Given the description of an element on the screen output the (x, y) to click on. 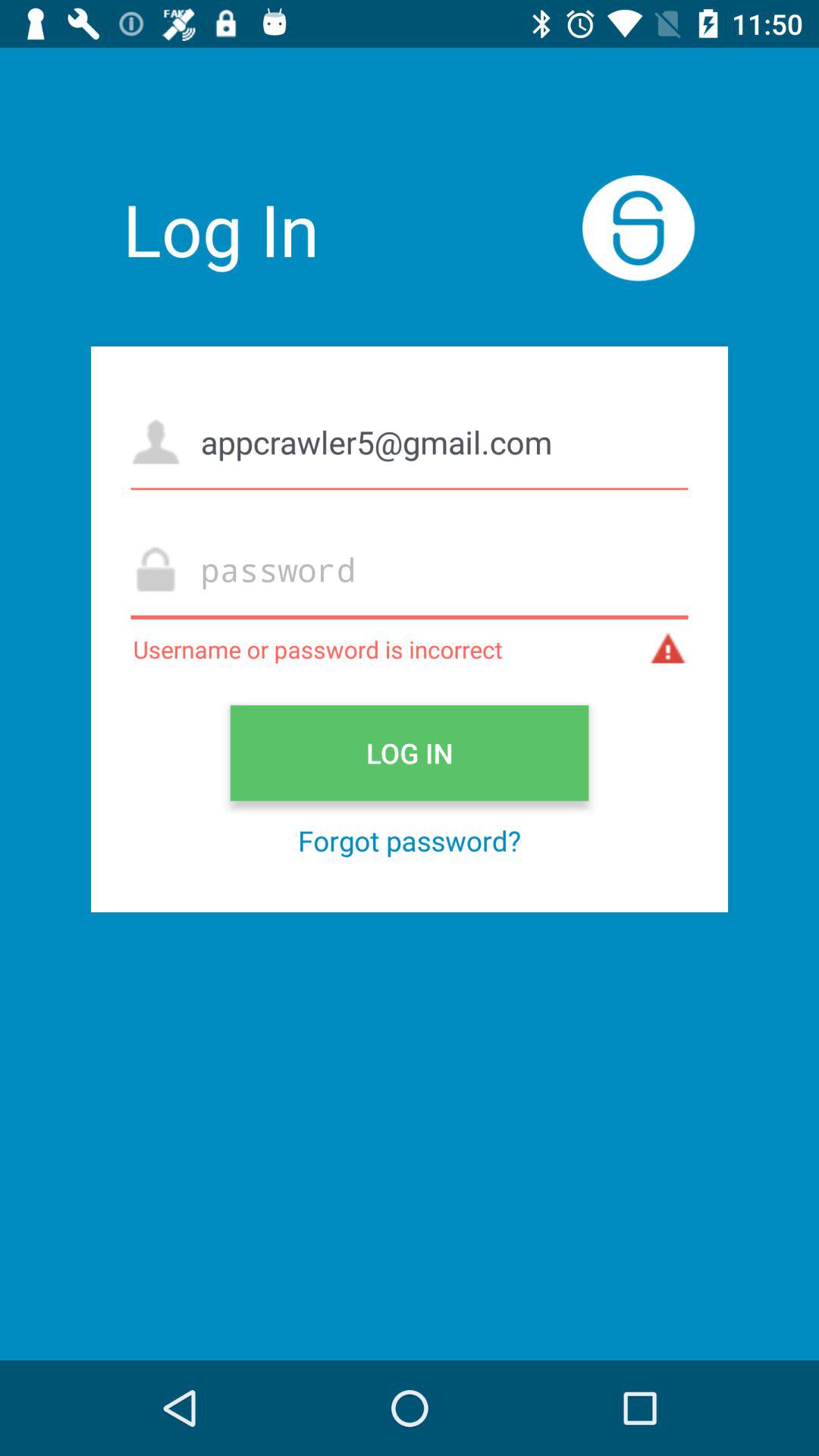
launch icon below the log in (409, 840)
